Given the description of an element on the screen output the (x, y) to click on. 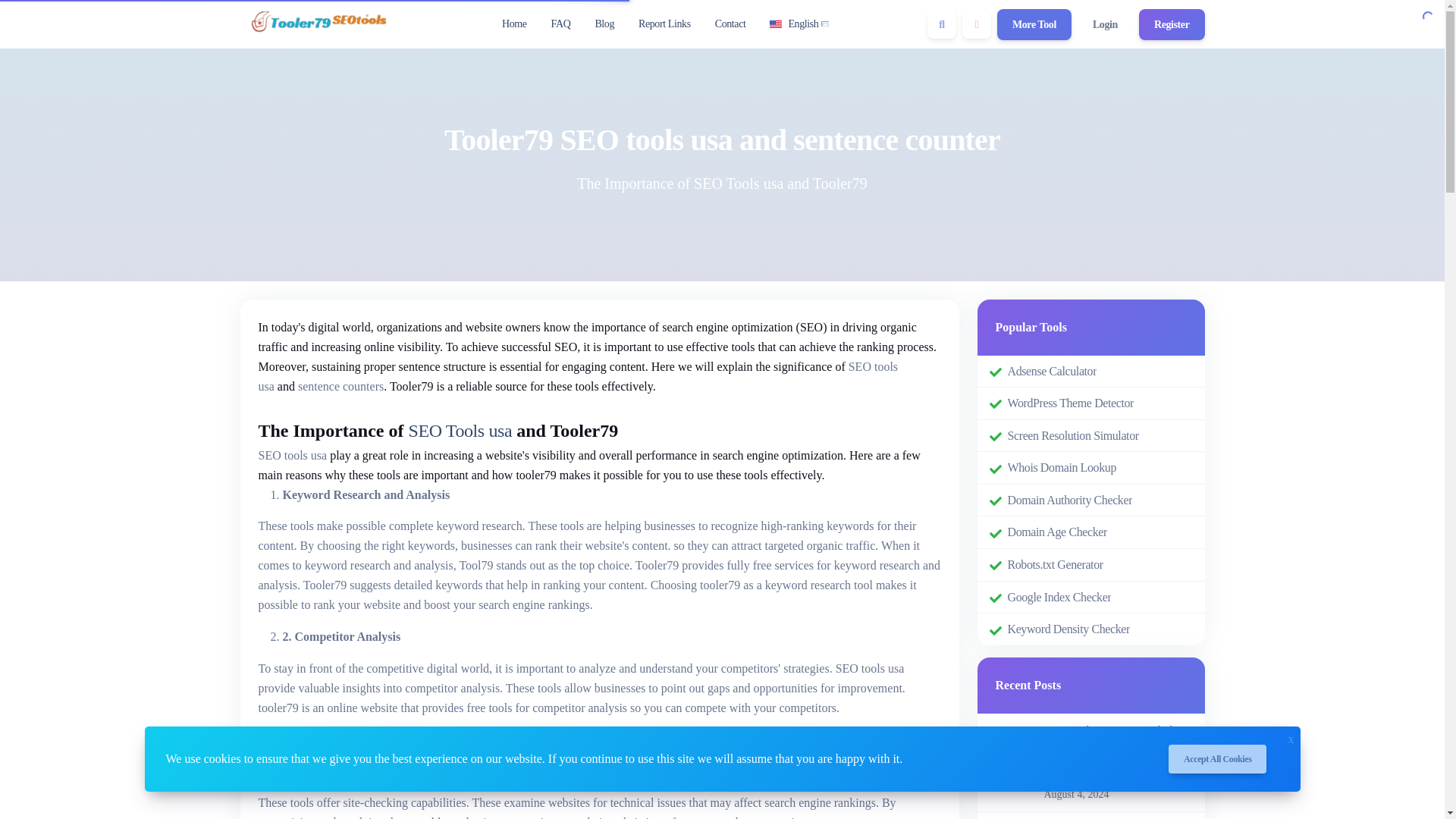
Register (1171, 24)
Domain Authority Checker (1069, 500)
Whois Domain Lookup (1061, 467)
WordPress Theme Detector (1070, 403)
SEO Tools usa (459, 431)
Adsense Calculator (1051, 370)
FAQ (560, 23)
Robots.txt Generator (1054, 564)
Image Cropper vs. Age Calculator - Know the Difference! (1117, 780)
Domain Authority Checker (1069, 500)
Whois Domain Lookup (1061, 467)
Screen Resolution Simulator (1072, 435)
Blog (604, 23)
Screen Resolution Simulator (1072, 435)
Domain Age Checker (1056, 532)
